Given the description of an element on the screen output the (x, y) to click on. 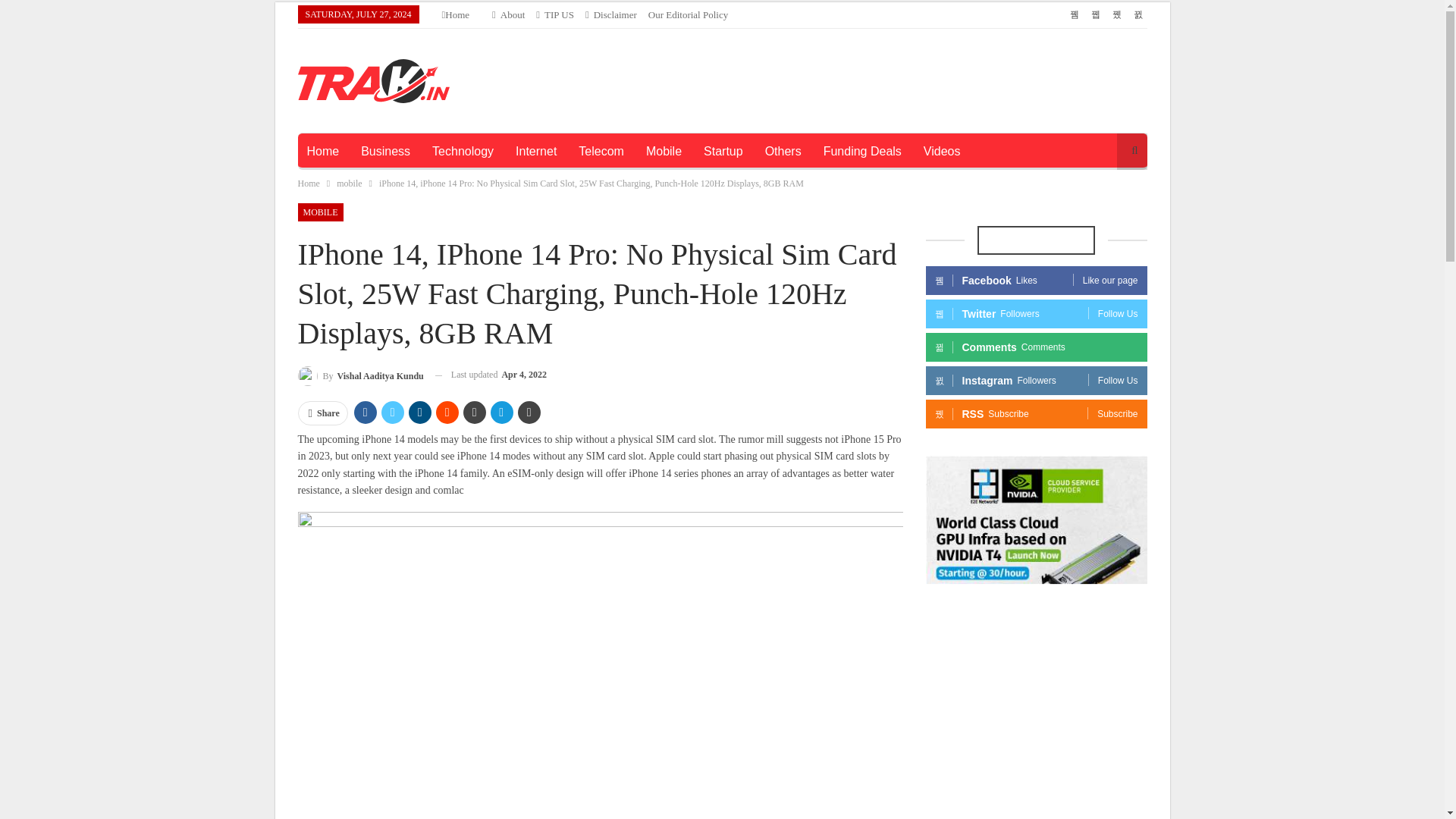
Home (307, 183)
mobile (348, 183)
TIP US (554, 14)
Business (385, 151)
Startup (723, 151)
MOBILE (319, 212)
Others (782, 151)
Disclaimer (611, 14)
Browse Author Articles (360, 374)
Mobile (663, 151)
Videos (941, 151)
Home (322, 151)
Get in Touch (554, 14)
Funding Deals (862, 151)
Technology (462, 151)
